Given the description of an element on the screen output the (x, y) to click on. 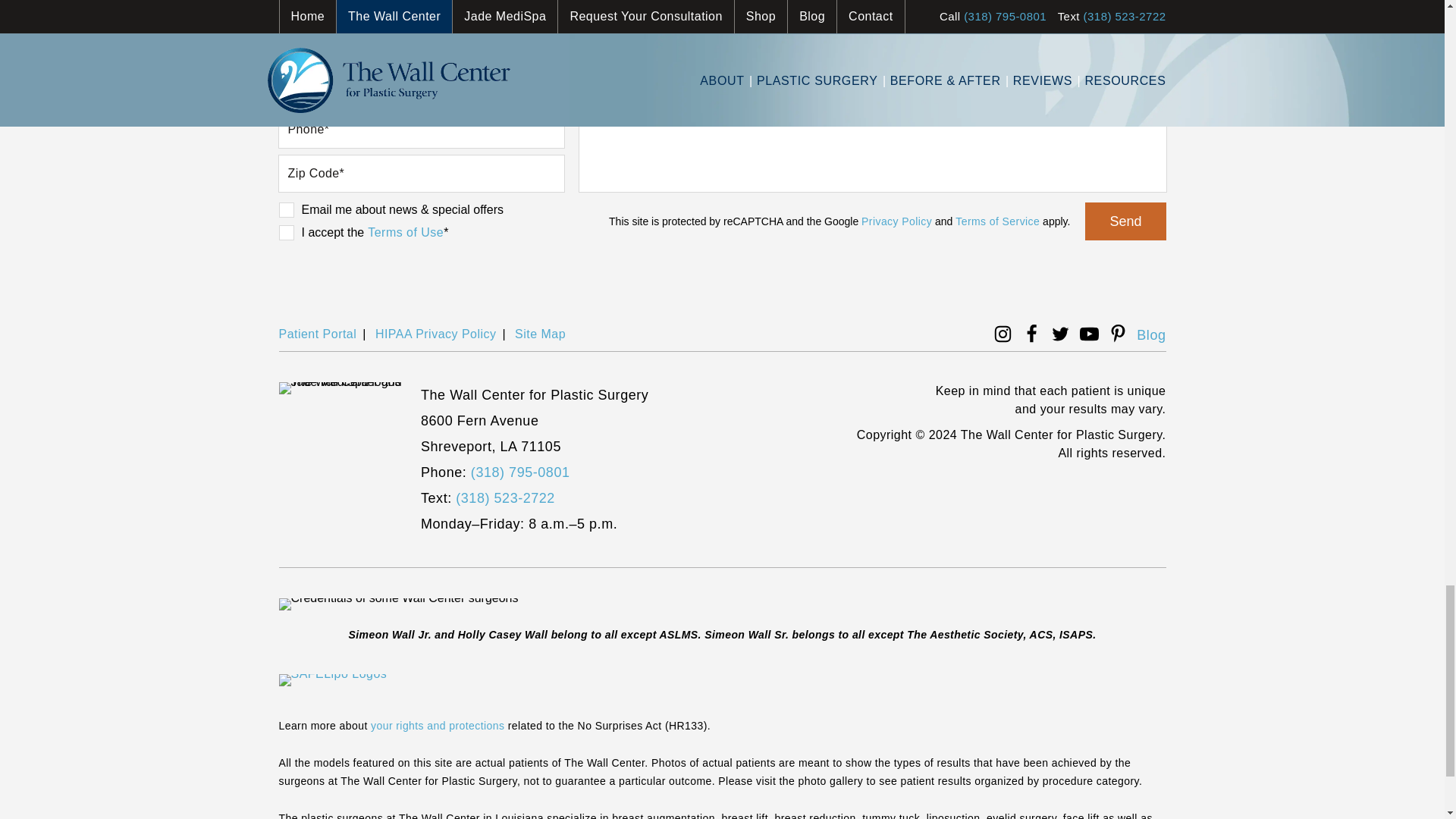
checked (286, 209)
checked (286, 232)
